Given the description of an element on the screen output the (x, y) to click on. 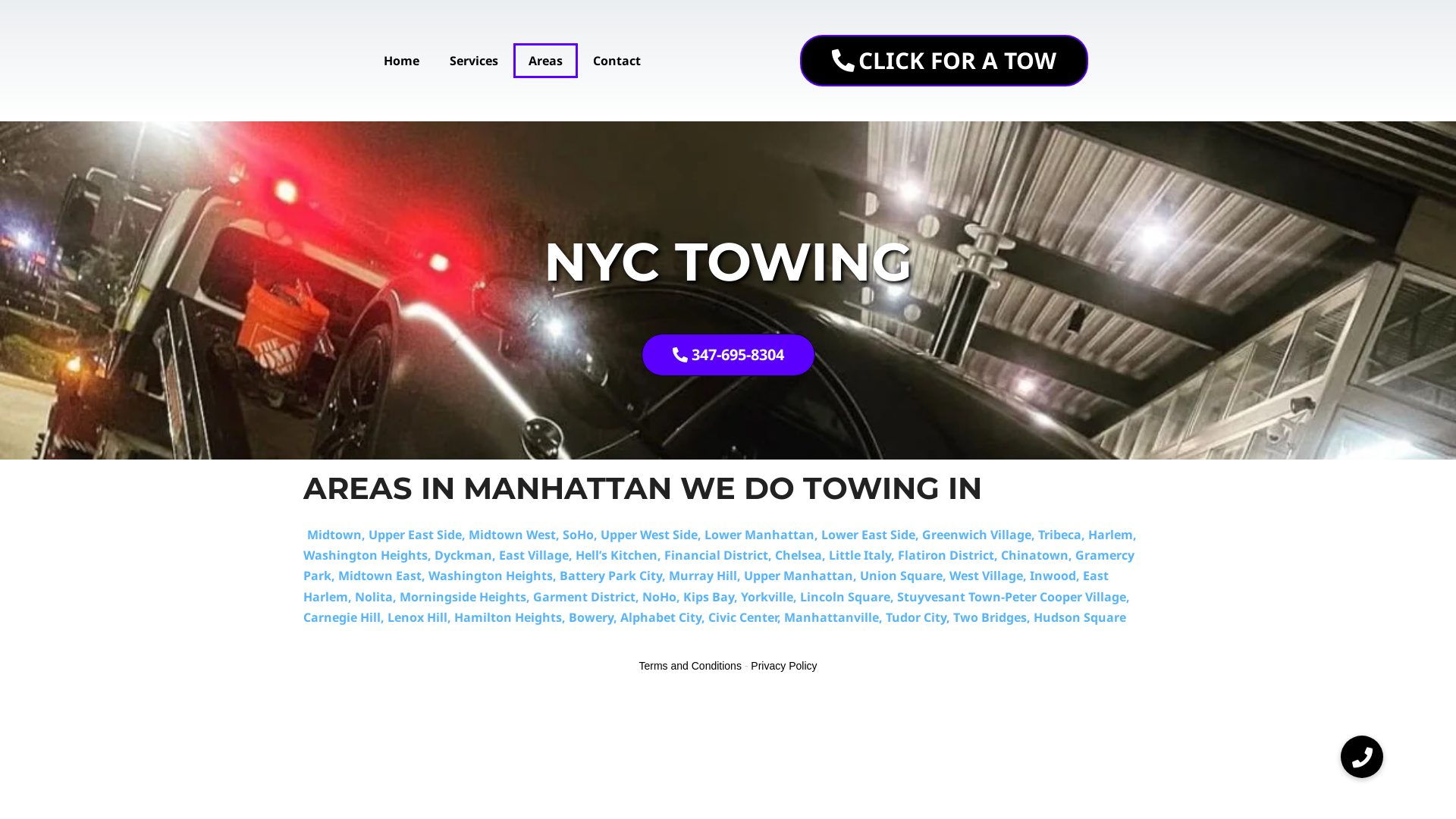
347-695-8304 Element type: text (728, 354)
Areas Element type: text (544, 60)
CLICK FOR A TOW Element type: text (944, 60)
Contact Element type: text (616, 60)
Terms and Conditions Element type: text (689, 665)
Home Element type: text (401, 60)
Privacy Policy Element type: text (783, 665)
Services Element type: text (472, 60)
